Given the description of an element on the screen output the (x, y) to click on. 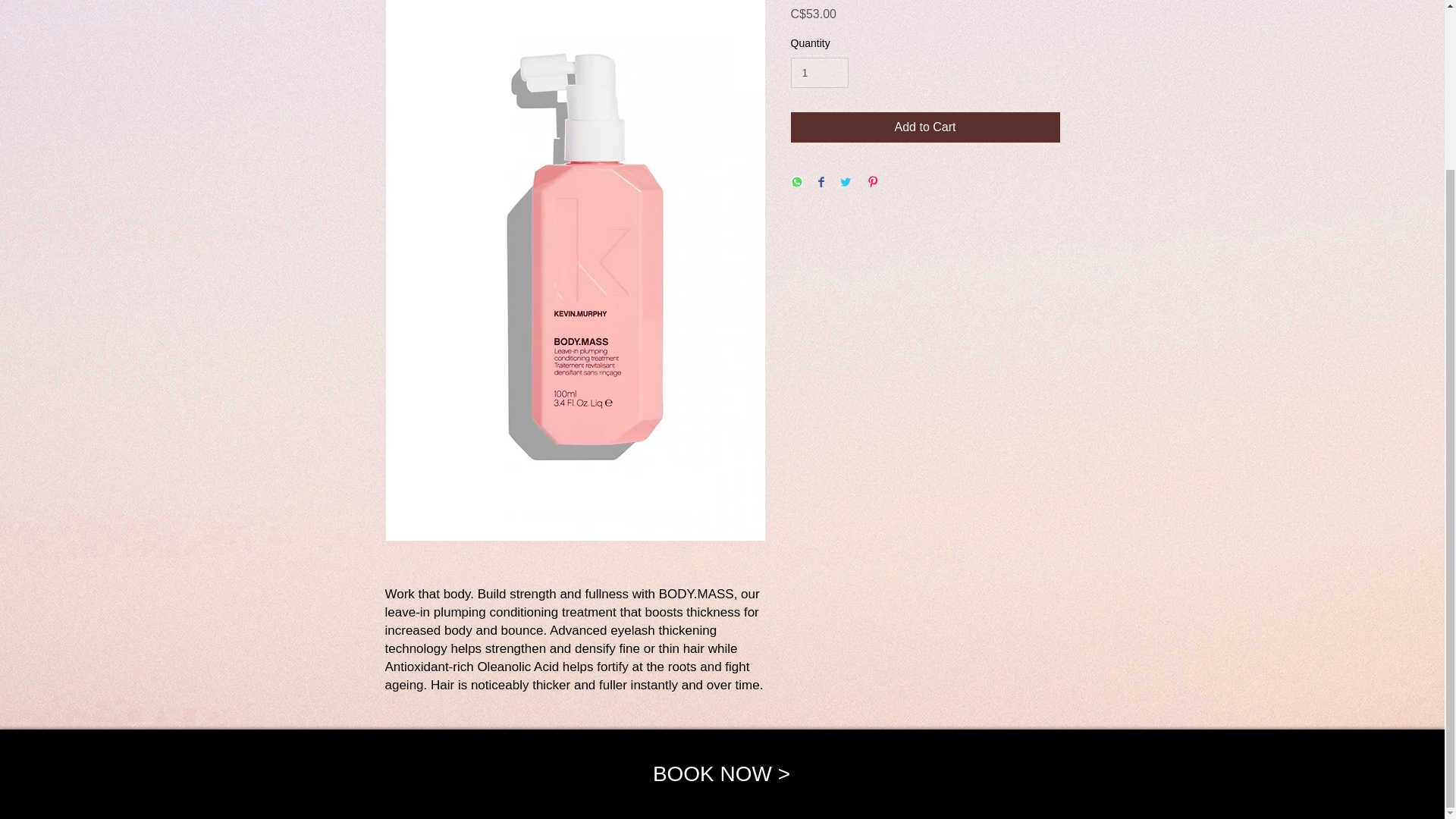
1 (818, 72)
Add to Cart (924, 127)
